Given the description of an element on the screen output the (x, y) to click on. 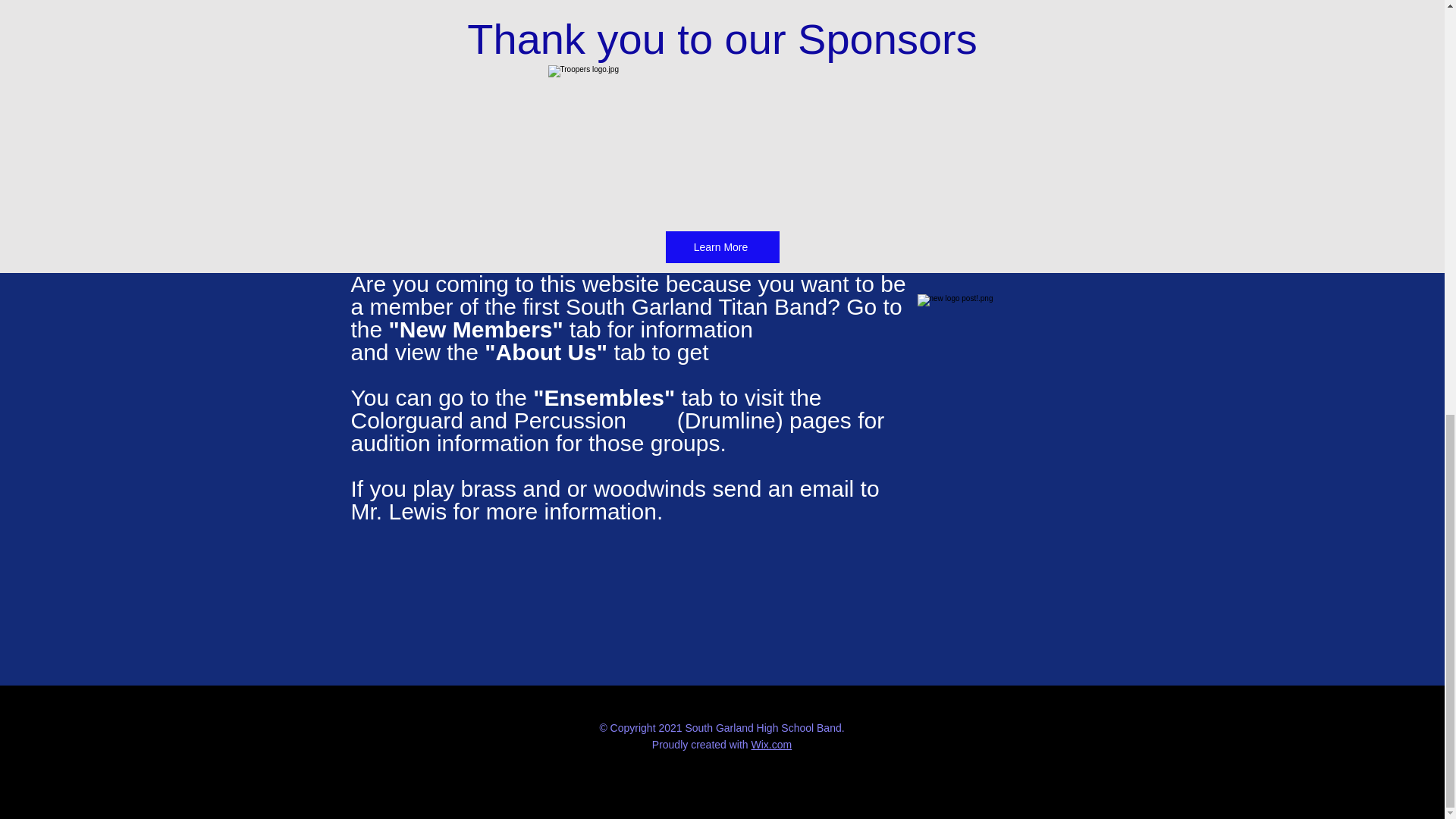
Wix.com (771, 744)
Learn More (721, 246)
